Given the description of an element on the screen output the (x, y) to click on. 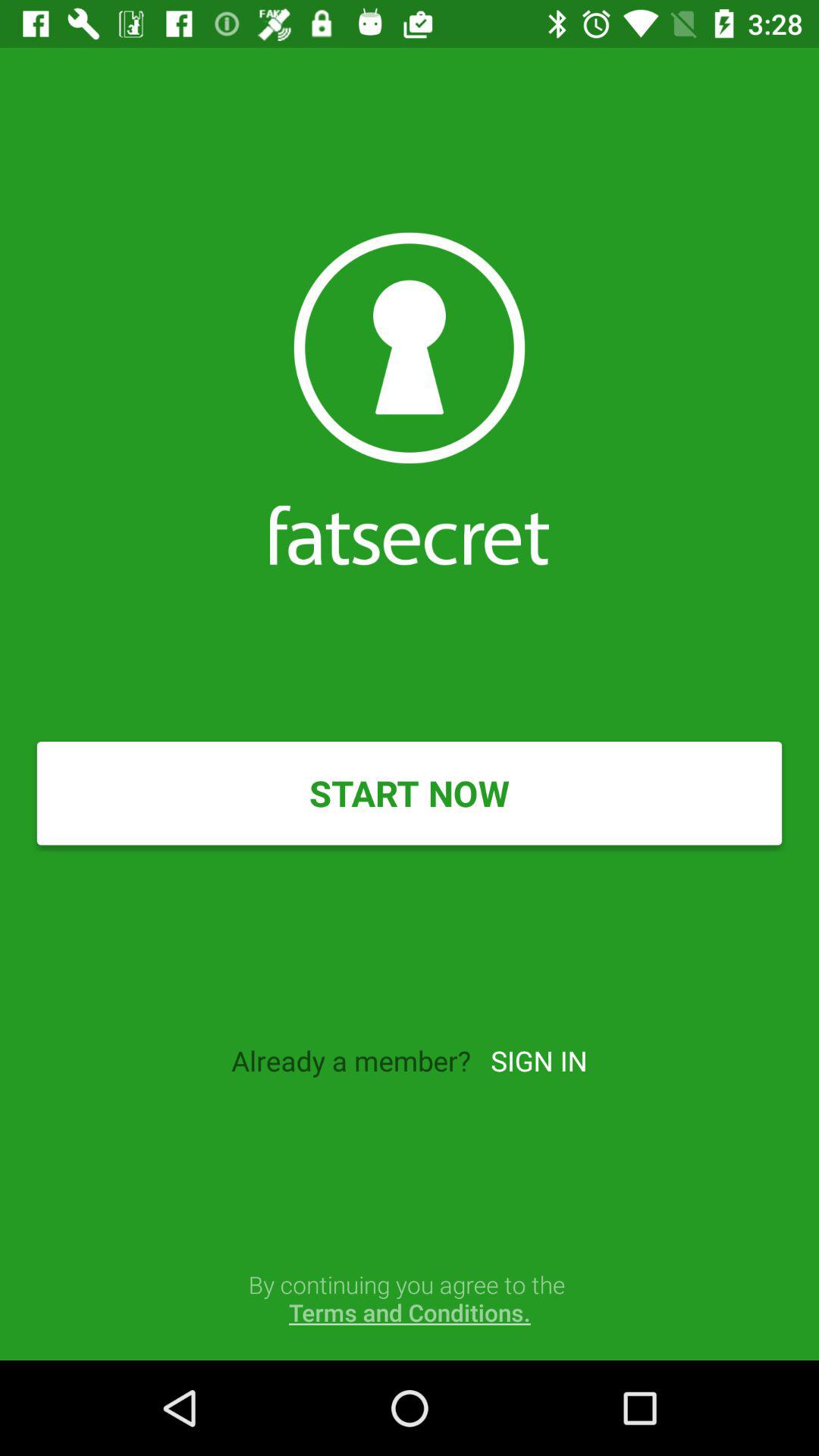
scroll to start now (409, 793)
